Given the description of an element on the screen output the (x, y) to click on. 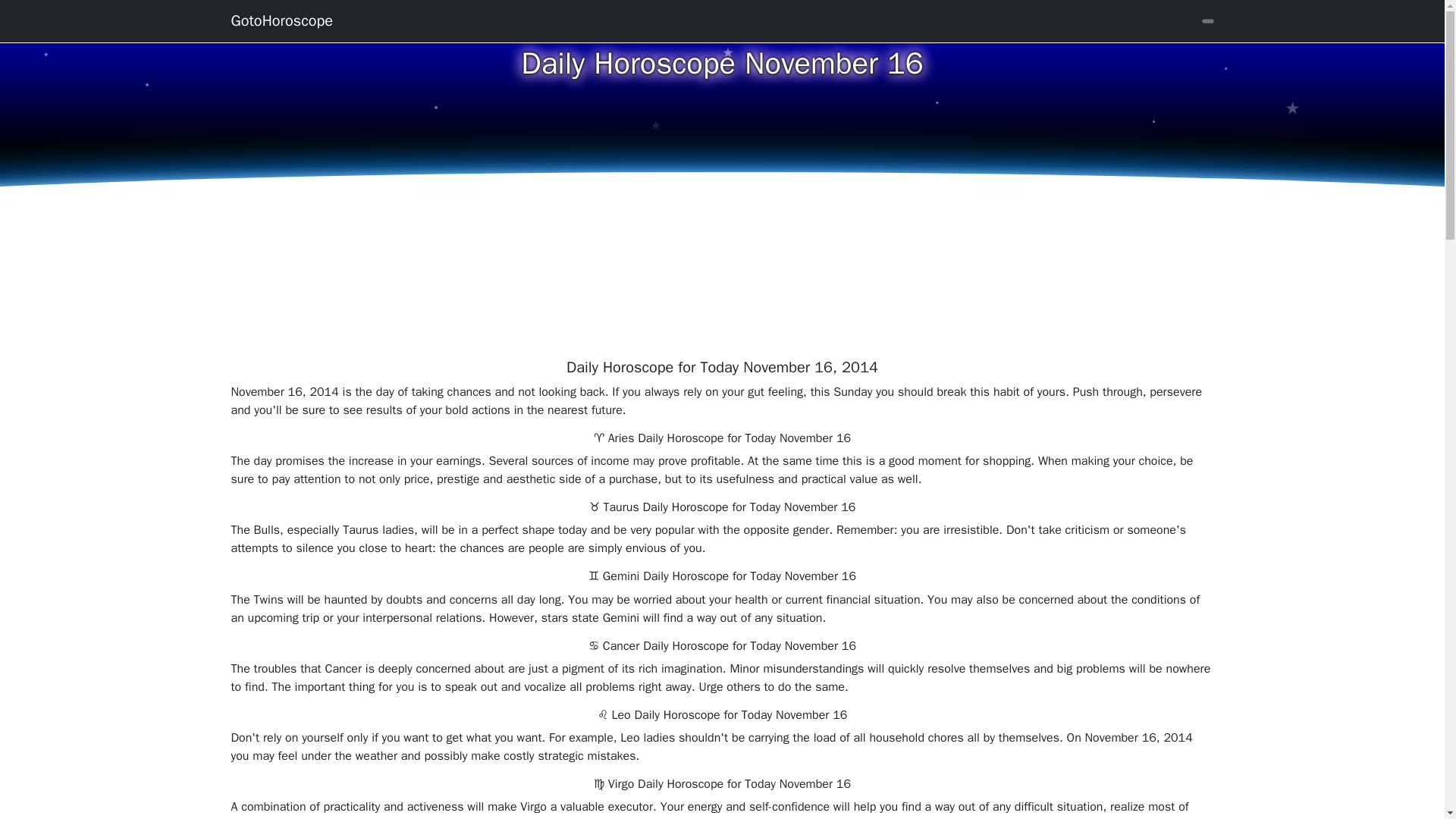
GotoHoroscope (281, 20)
Goto Horoscope Home (281, 20)
